Given the description of an element on the screen output the (x, y) to click on. 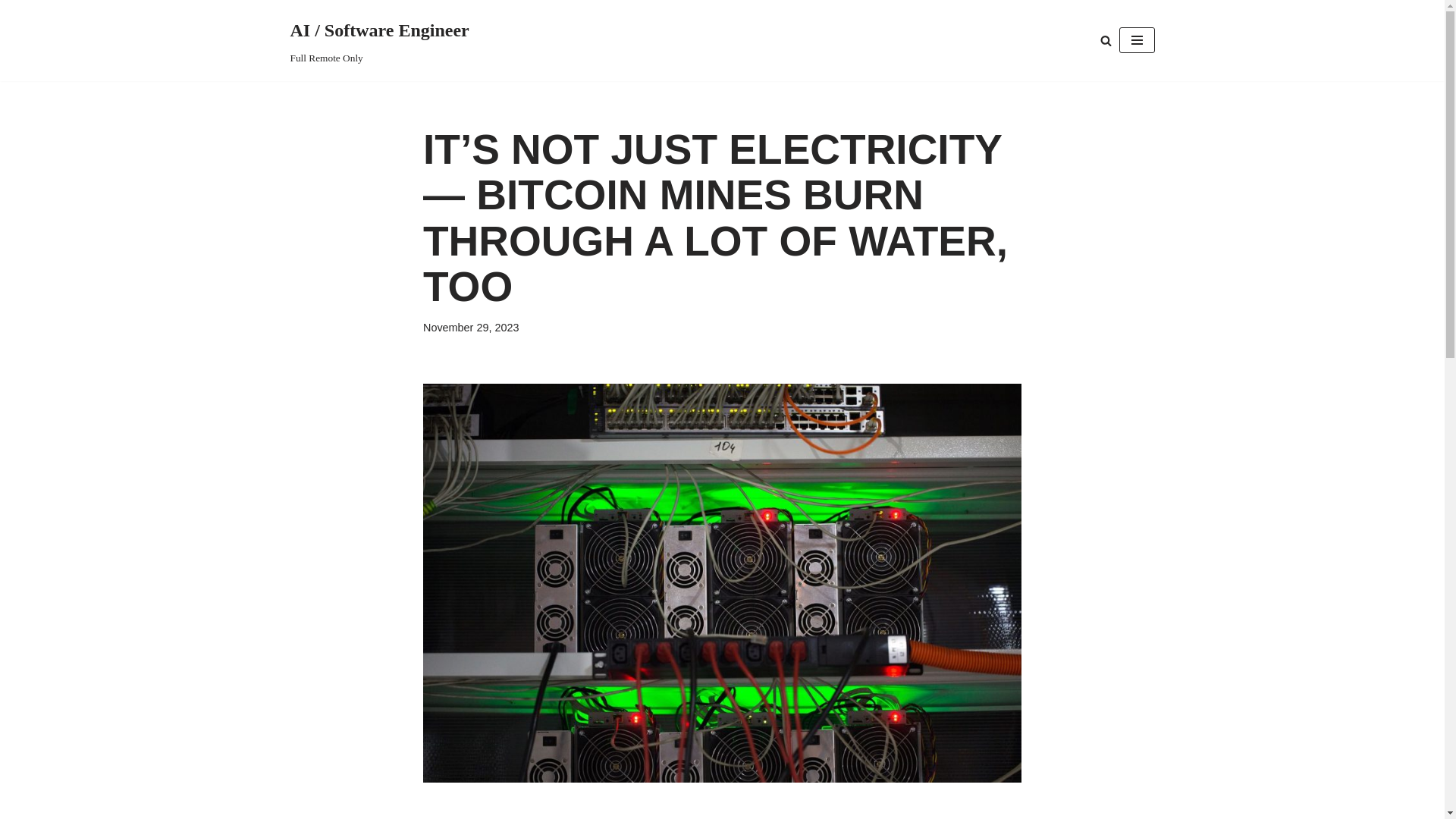
Skip to content (11, 31)
Navigation Menu (1136, 40)
